Given the description of an element on the screen output the (x, y) to click on. 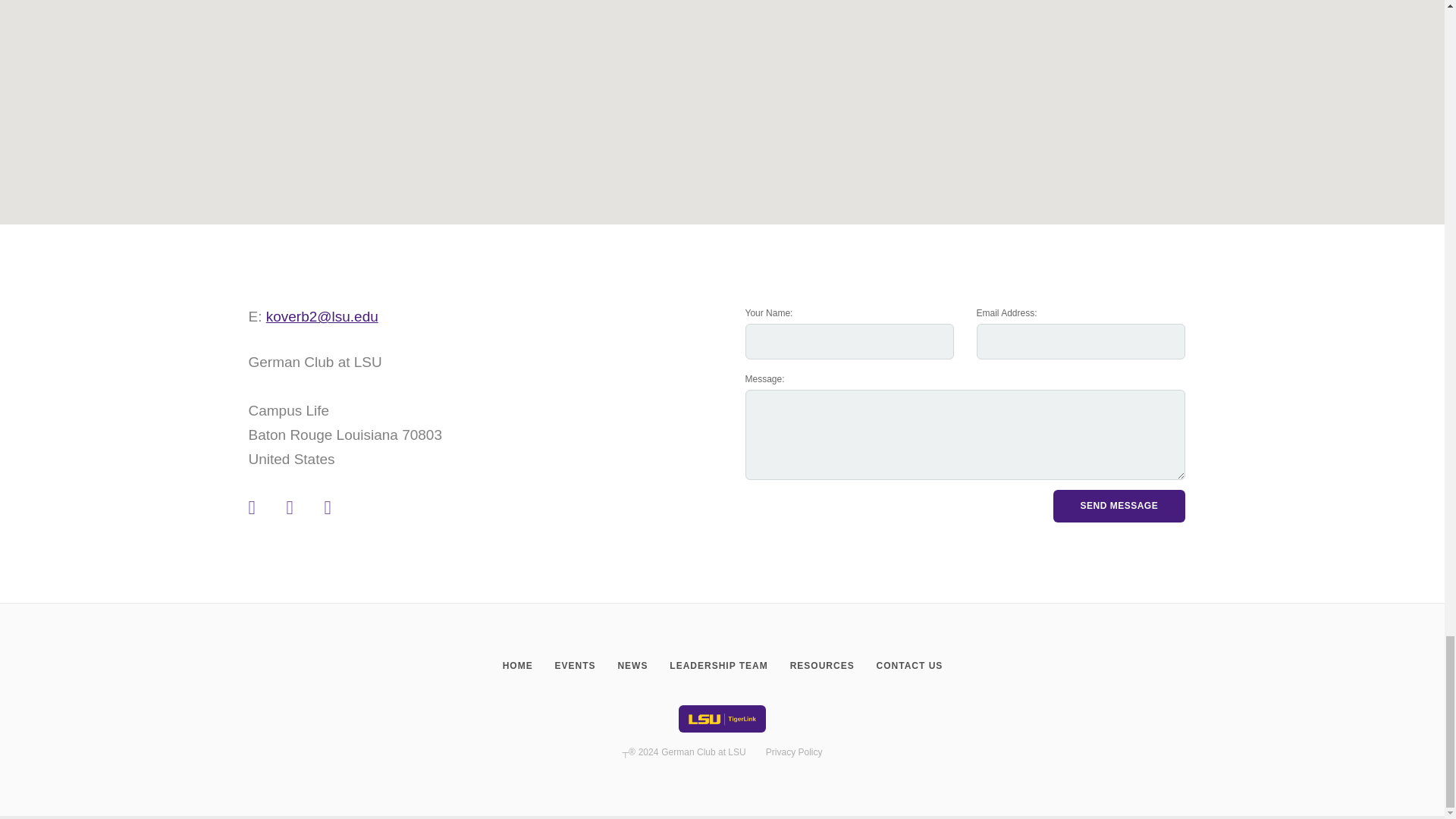
CONTACT US (909, 665)
Send Message (1118, 506)
LEADERSHIP TEAM (718, 665)
Send Message (1118, 506)
Privacy Policy (793, 751)
RESOURCES (821, 665)
HOME (517, 665)
EVENTS (574, 665)
NEWS (631, 665)
